Given the description of an element on the screen output the (x, y) to click on. 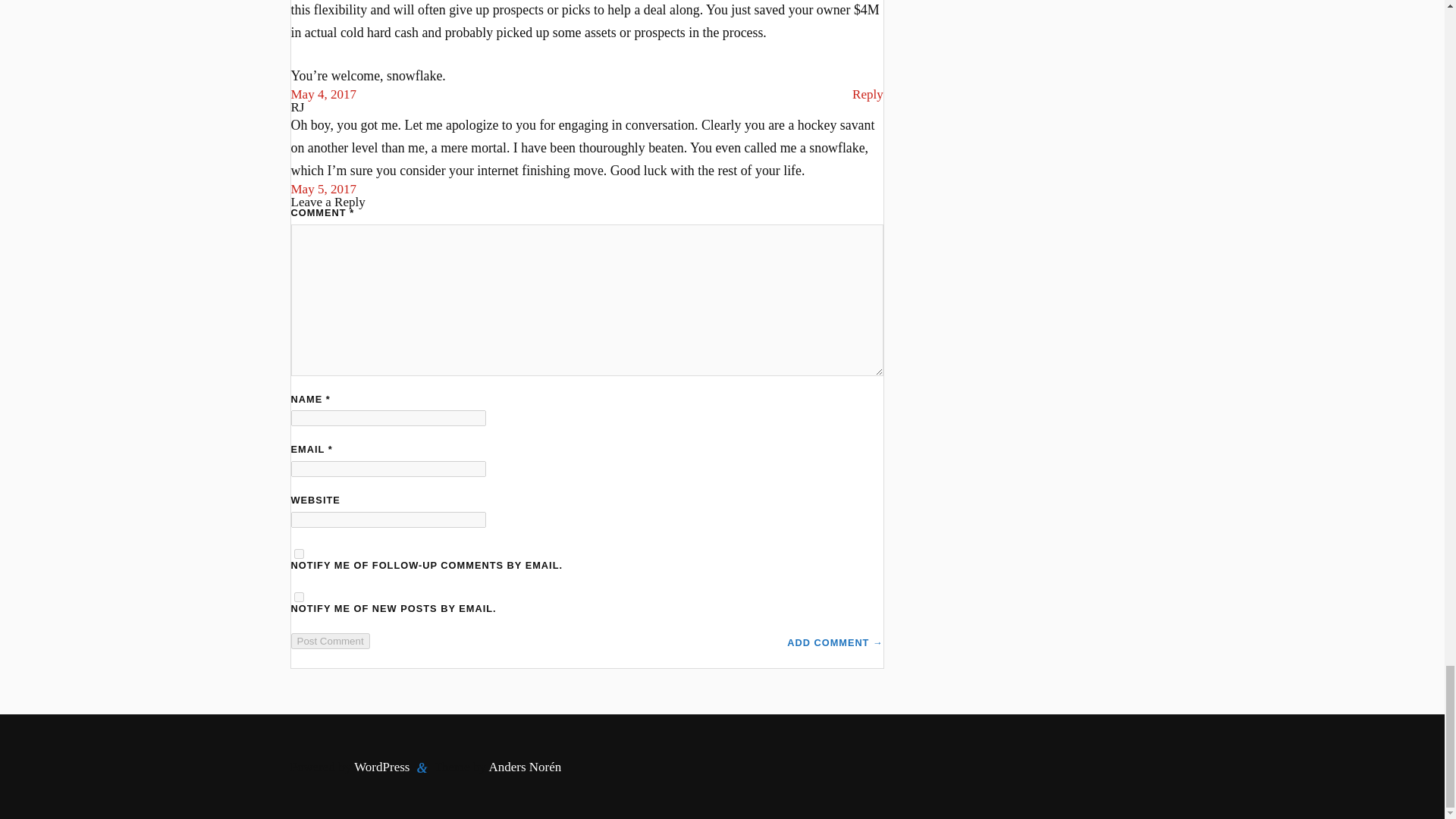
May 4, 2017 at 8:21 PM (323, 93)
May 5, 2017 at 8:39 AM (323, 188)
subscribe (299, 553)
Post Comment (330, 641)
subscribe (299, 596)
